Given the description of an element on the screen output the (x, y) to click on. 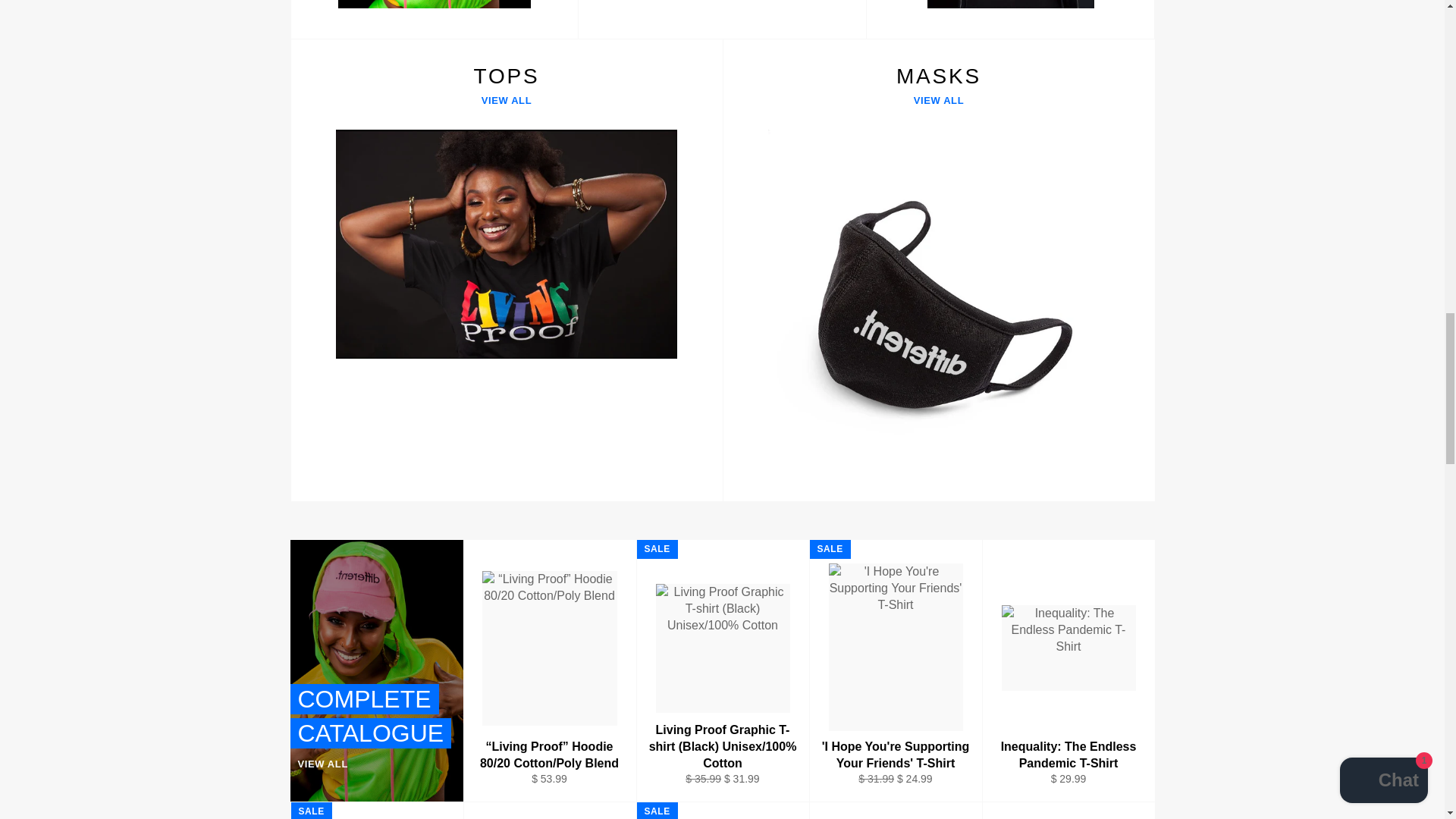
Browse our Tops collection (722, 19)
Browse our Masks collection (433, 19)
Browse our Complete Catalogue collection (1010, 19)
